Given the description of an element on the screen output the (x, y) to click on. 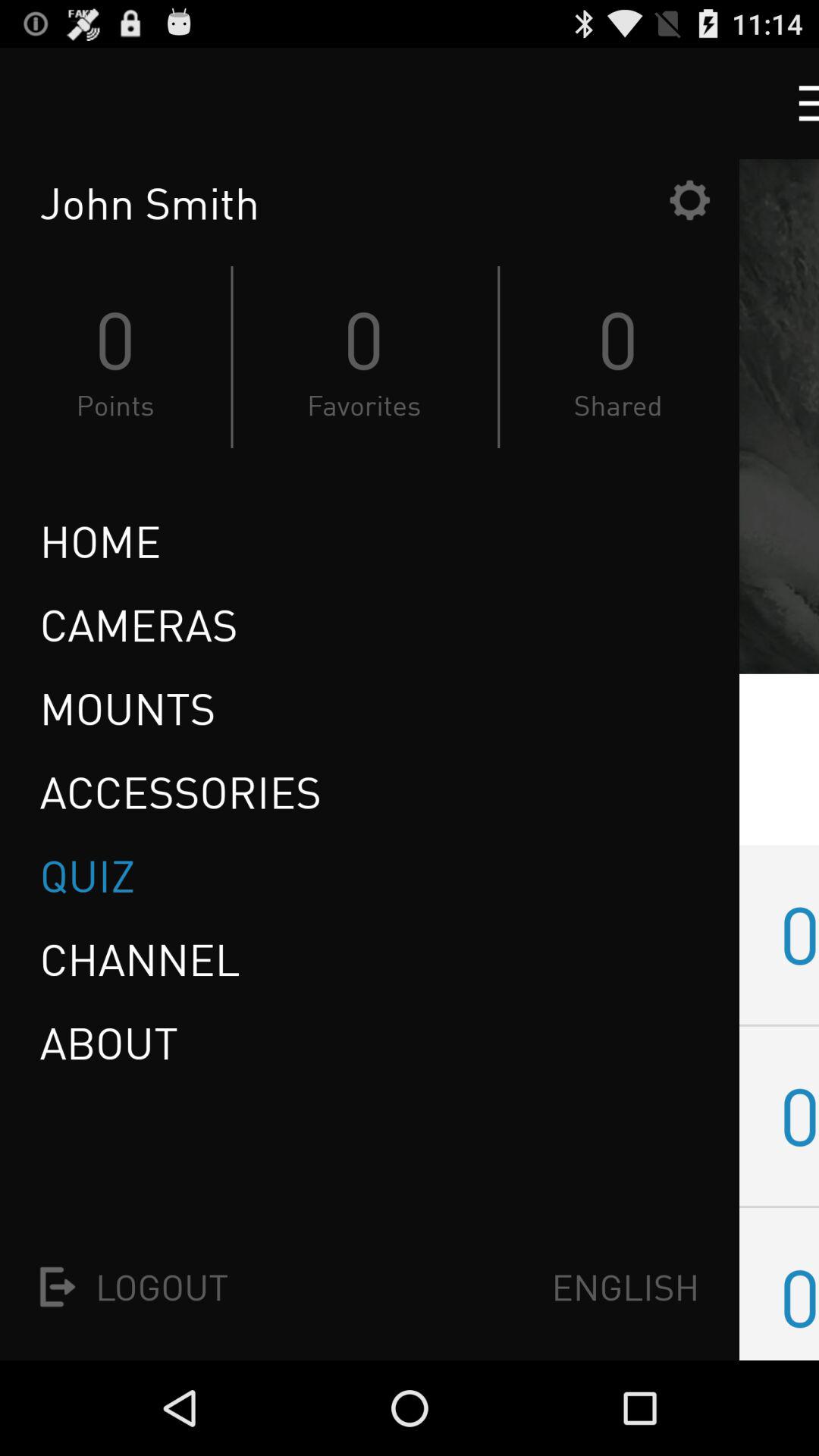
toggle drop down menu (795, 102)
